Given the description of an element on the screen output the (x, y) to click on. 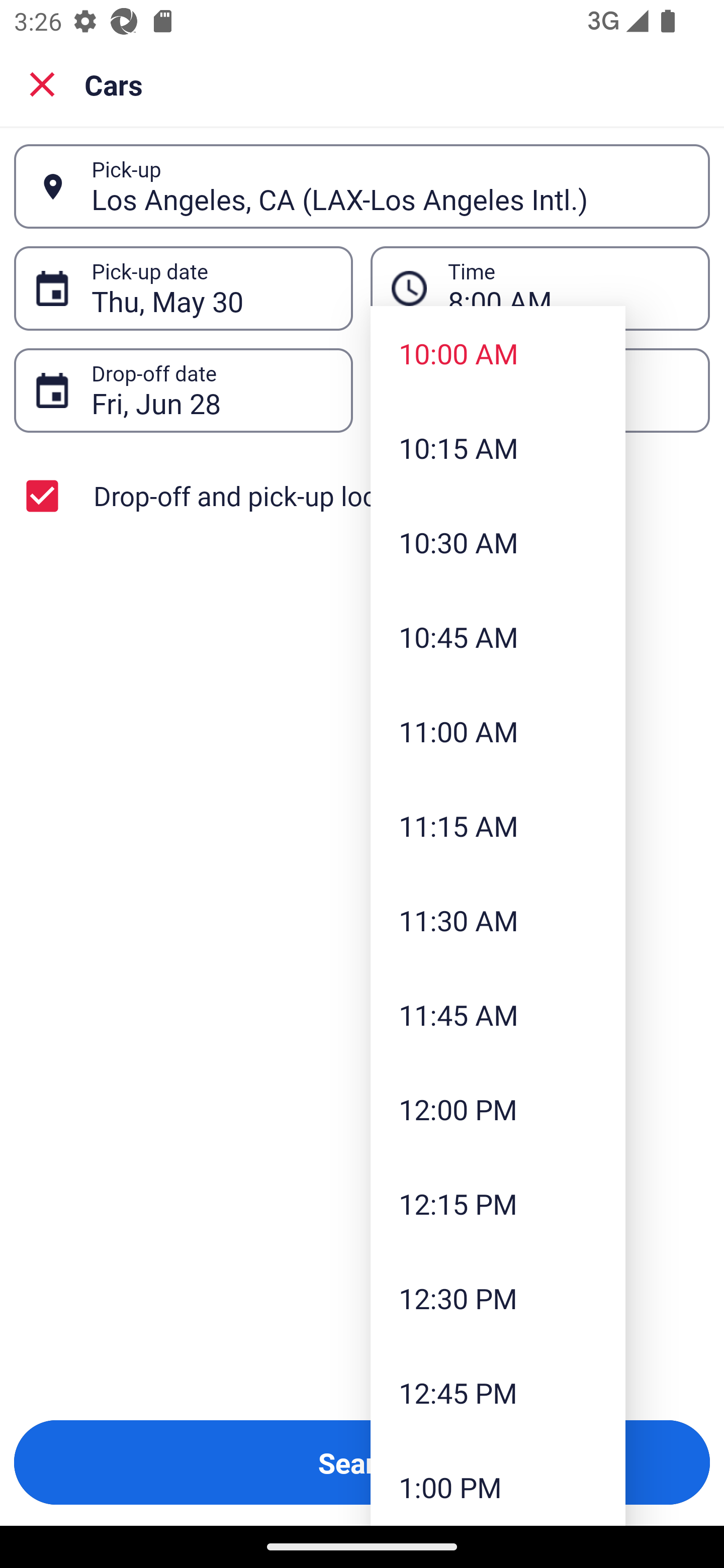
10:00 AM (497, 352)
10:15 AM (497, 447)
10:30 AM (497, 542)
10:45 AM (497, 636)
11:00 AM (497, 730)
11:15 AM (497, 825)
11:30 AM (497, 920)
11:45 AM (497, 1014)
12:00 PM (497, 1109)
12:15 PM (497, 1204)
12:30 PM (497, 1298)
12:45 PM (497, 1392)
1:00 PM (497, 1482)
